Given the description of an element on the screen output the (x, y) to click on. 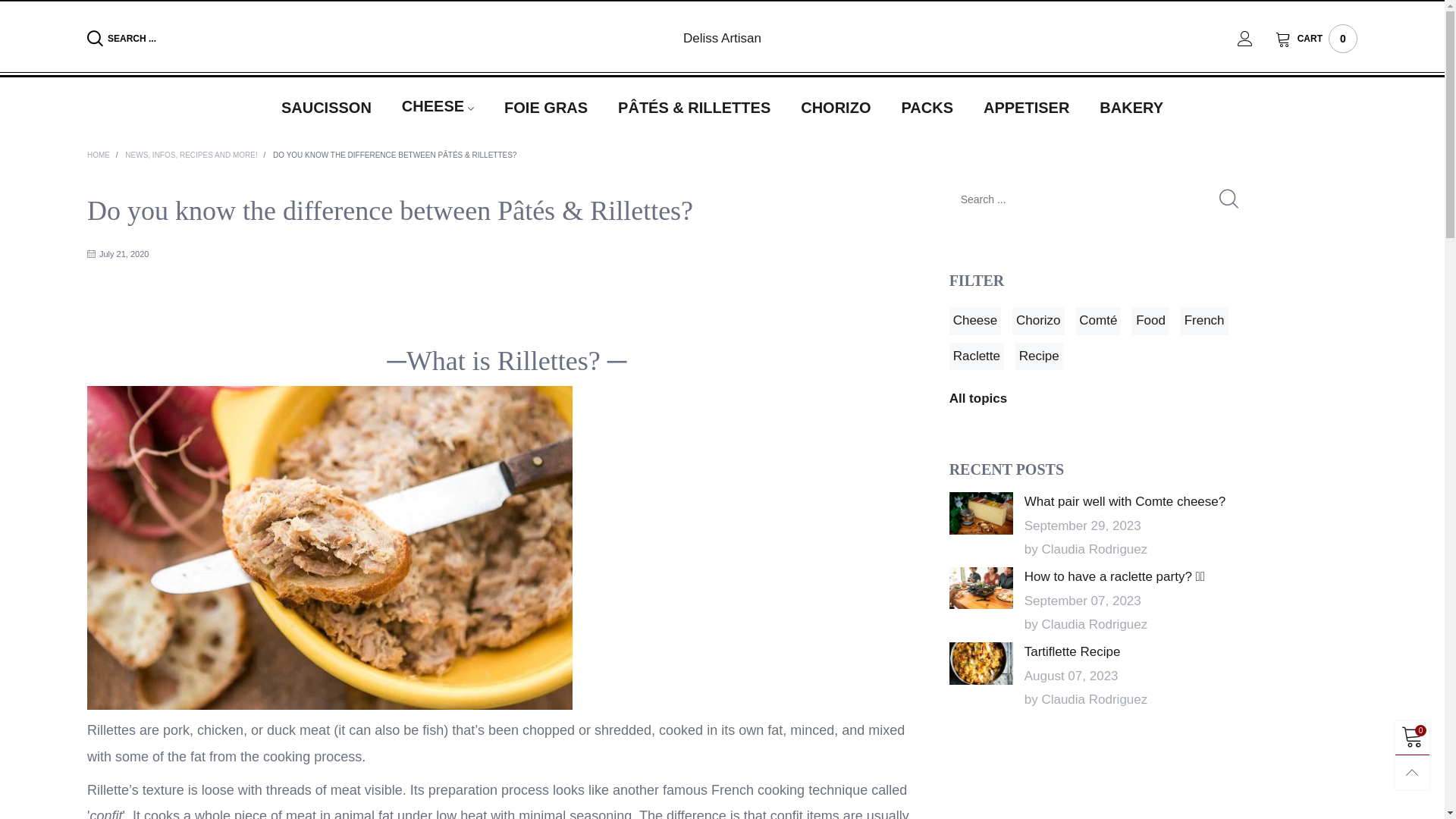
NEWS, INFOS, RECIPES AND MORE! Element type: text (192, 154)
Recipe Element type: text (1039, 356)
FOIE GRAS Element type: text (545, 106)
What pair well with Comte cheese? Element type: hover (981, 513)
Deliss Artisan Element type: text (722, 38)
Tartiflette Recipe Element type: hover (981, 663)
SEARCH ... Element type: text (291, 38)
APPETISER Element type: text (1026, 106)
Login Element type: hover (1256, 38)
PACKS Element type: text (926, 106)
CHEESE Element type: text (437, 107)
Back to top Element type: hover (1412, 772)
CART
0 Element type: text (1316, 38)
What pair well with Comte cheese? Element type: text (1125, 501)
SAUCISSON Element type: text (326, 106)
Chorizo Element type: text (1038, 320)
Food Element type: text (1150, 320)
French Element type: text (1204, 320)
Raclette Element type: text (976, 356)
Sign In Element type: text (1220, 216)
Tartiflette Recipe Element type: text (1072, 651)
Cheese Element type: text (975, 320)
BAKERY Element type: text (1131, 106)
Submit Element type: hover (1228, 198)
HOME Element type: text (99, 154)
All topics Element type: text (978, 398)
0 Element type: text (1412, 738)
CHORIZO Element type: text (835, 106)
